Given the description of an element on the screen output the (x, y) to click on. 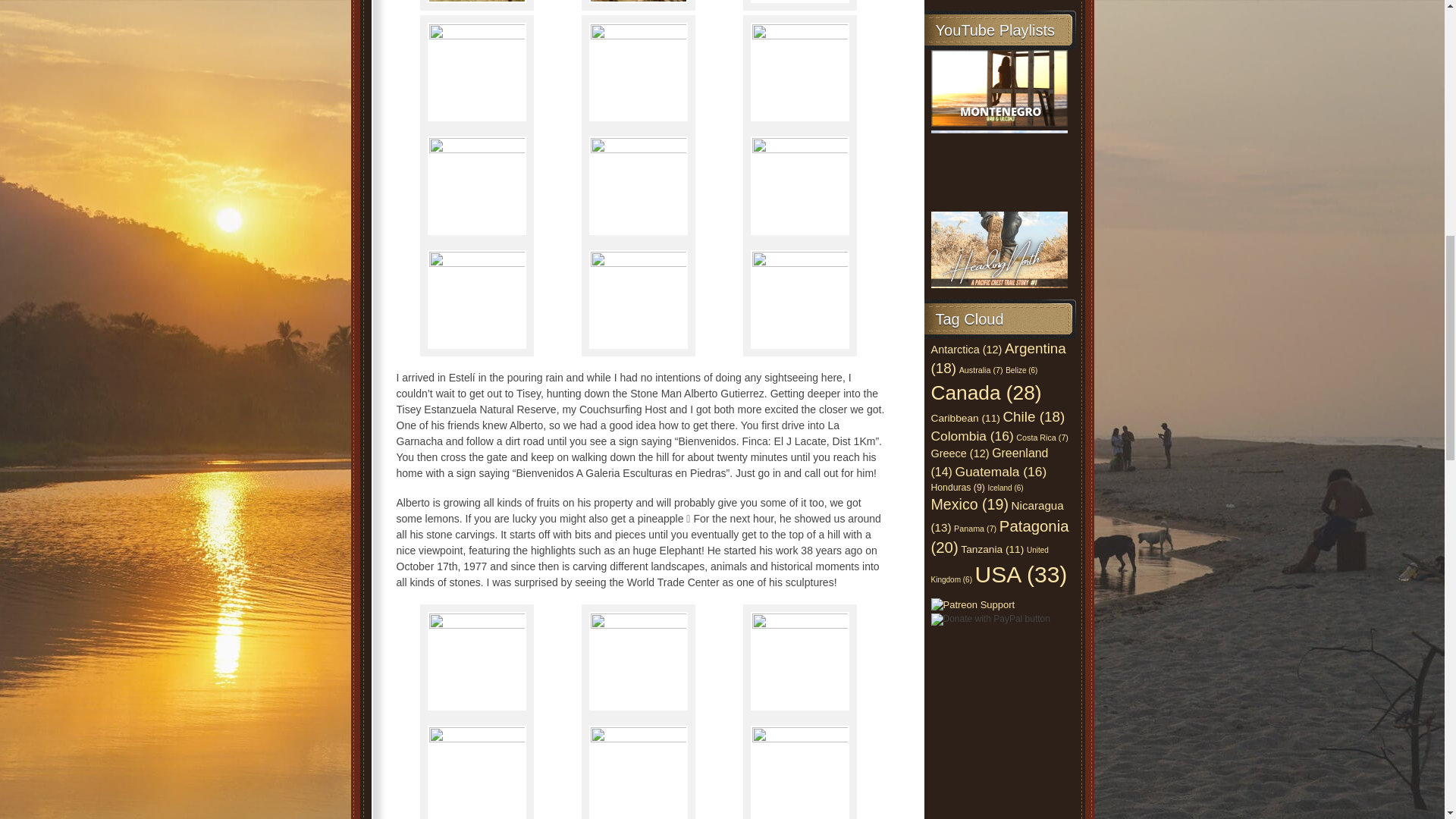
28 topics (986, 392)
11 topics (965, 418)
6 topics (1021, 370)
12 topics (967, 349)
7 topics (981, 369)
18 topics (998, 357)
